Given the description of an element on the screen output the (x, y) to click on. 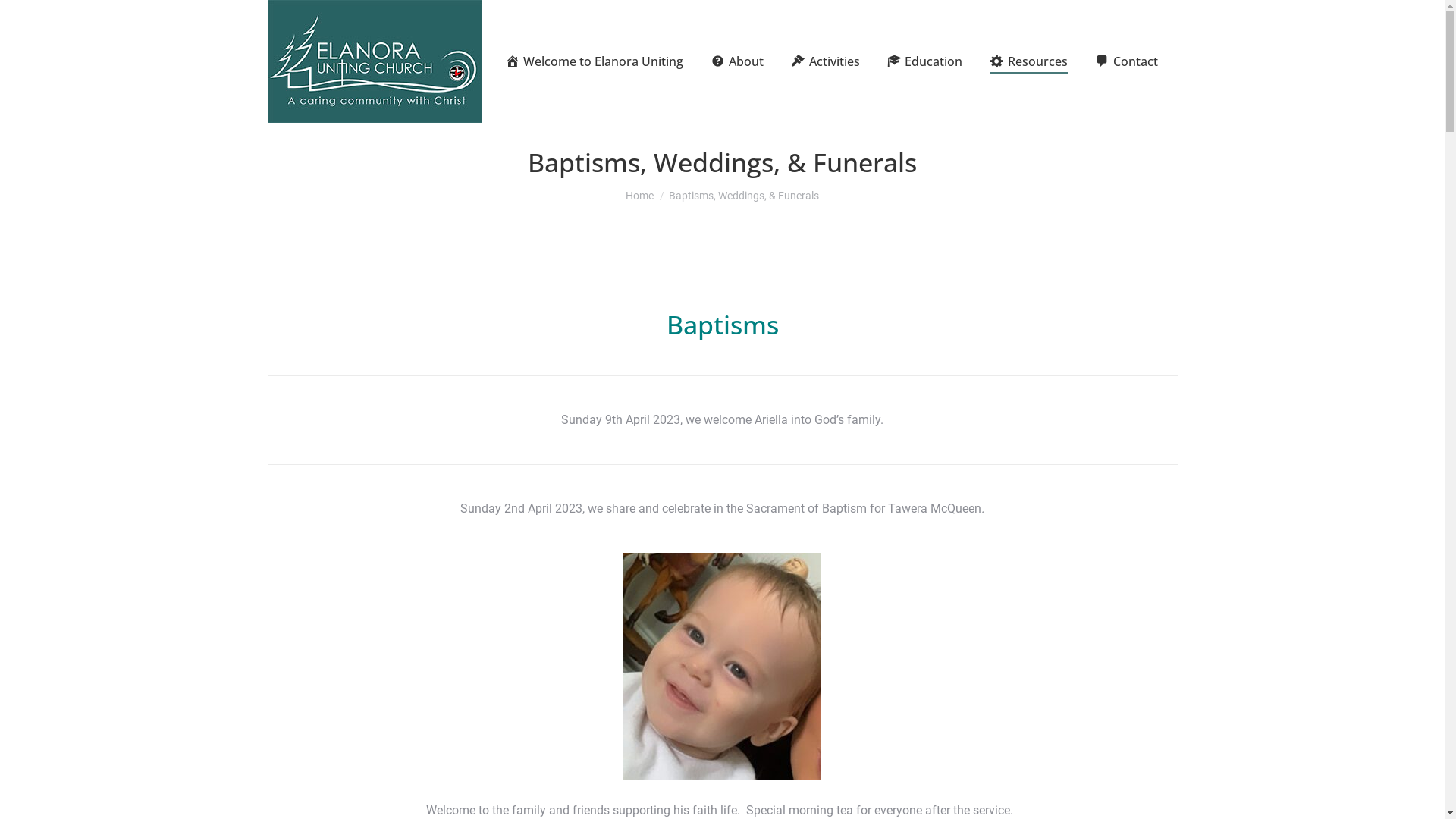
Home Element type: text (639, 195)
Resources Element type: text (1028, 61)
Contact Element type: text (1126, 61)
Education Element type: text (925, 61)
Activities Element type: text (824, 61)
Welcome to Elanora Uniting Element type: text (594, 61)
About Element type: text (736, 61)
